Given the description of an element on the screen output the (x, y) to click on. 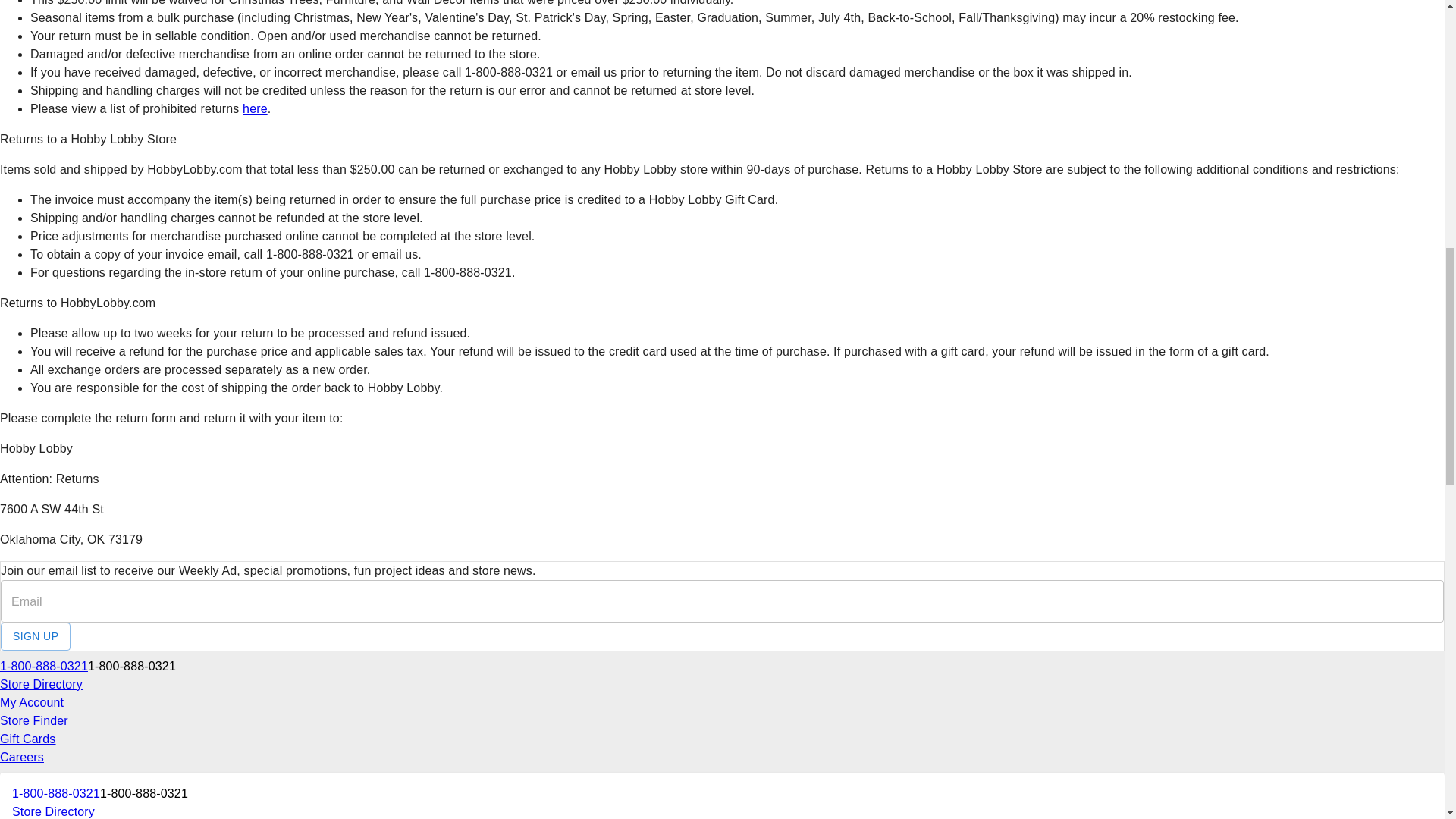
1-800-888-0321 (55, 793)
1-800-888-0321 (131, 666)
My Account (32, 702)
SIGN UP (35, 636)
Careers (21, 757)
Store Directory (41, 684)
1-800-888-0321 (43, 666)
Store Directory (52, 811)
1-800-888-0321 (143, 793)
Store Finder (34, 720)
Gift Cards (28, 739)
here (255, 108)
